Given the description of an element on the screen output the (x, y) to click on. 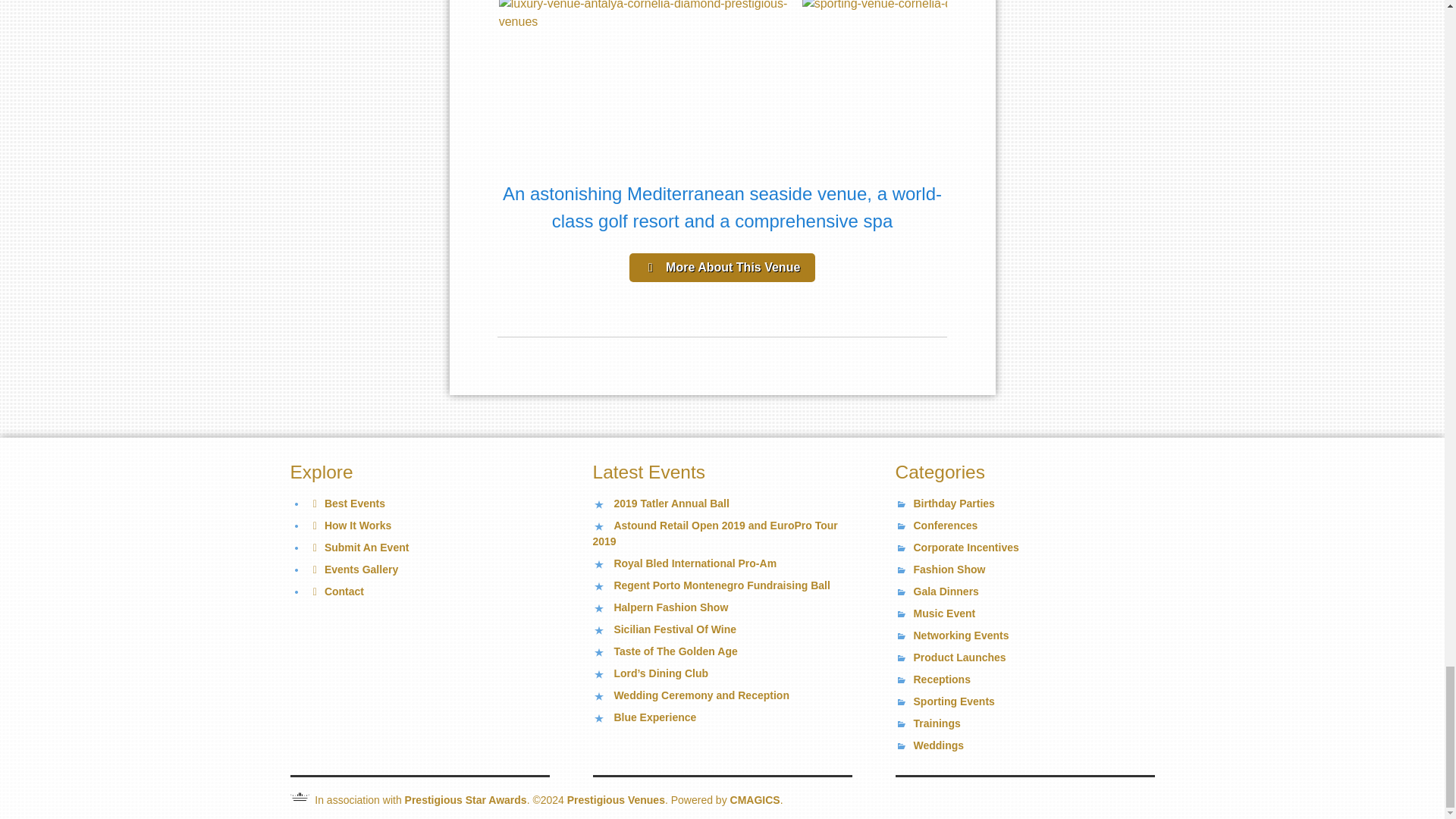
Taste of The Golden Age (674, 651)
Best Events (346, 503)
Sicilian Festival Of Wine (674, 629)
Events Gallery (352, 569)
Contact (335, 591)
Submit An Event (358, 547)
Astound Retail Open 2019 and EuroPro Tour 2019 (715, 533)
How It Works (349, 525)
More About This Venue (721, 267)
Royal Bled International Pro-Am (694, 563)
Halpern Fashion Show (670, 607)
Regent Porto Montenegro Fundraising Ball (720, 585)
2019 Tatler Annual Ball (670, 503)
